Given the description of an element on the screen output the (x, y) to click on. 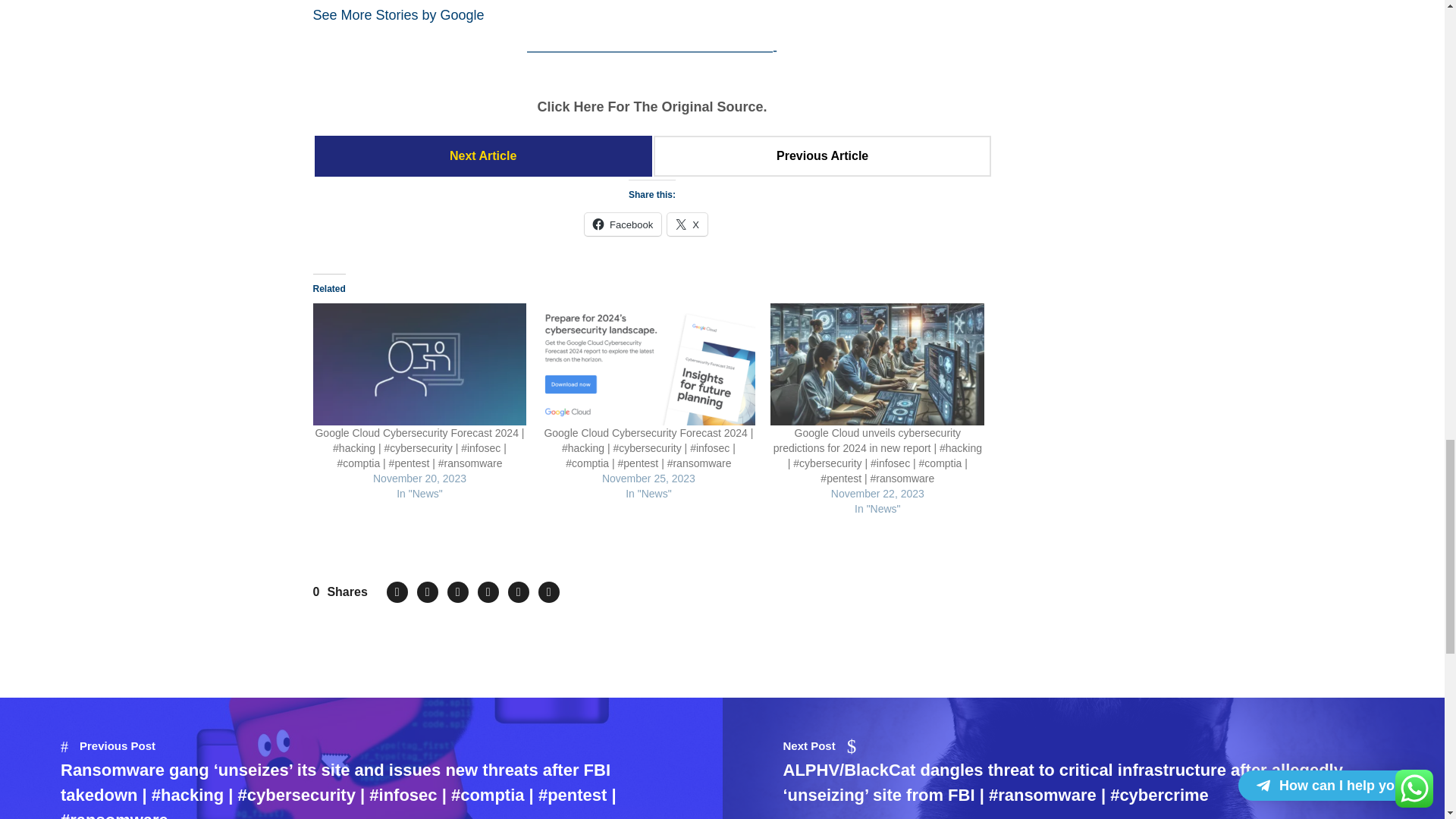
Click to share on X (686, 223)
Click to share on Facebook (623, 223)
